Given the description of an element on the screen output the (x, y) to click on. 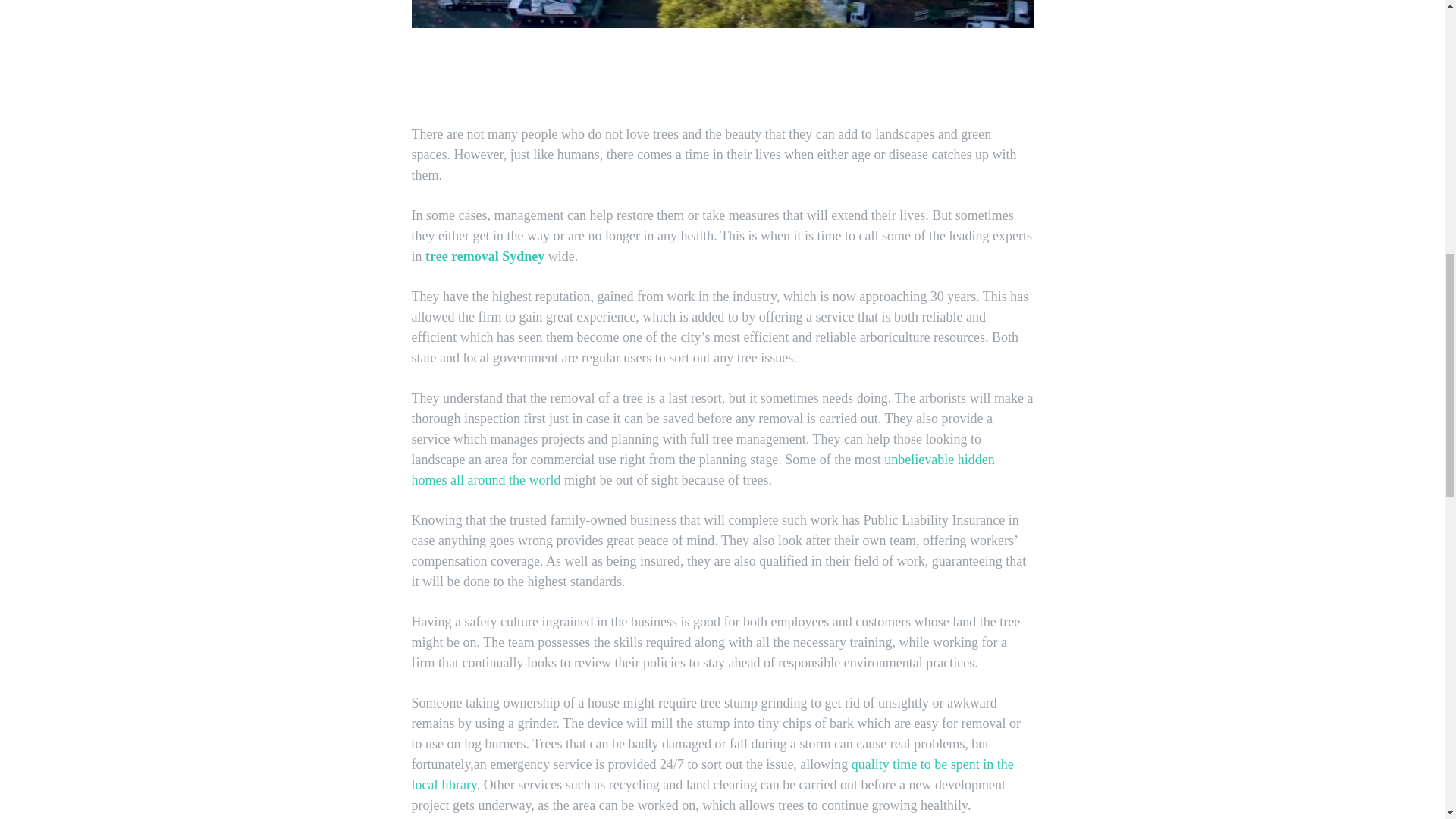
carry out the removal of trees (721, 13)
